Given the description of an element on the screen output the (x, y) to click on. 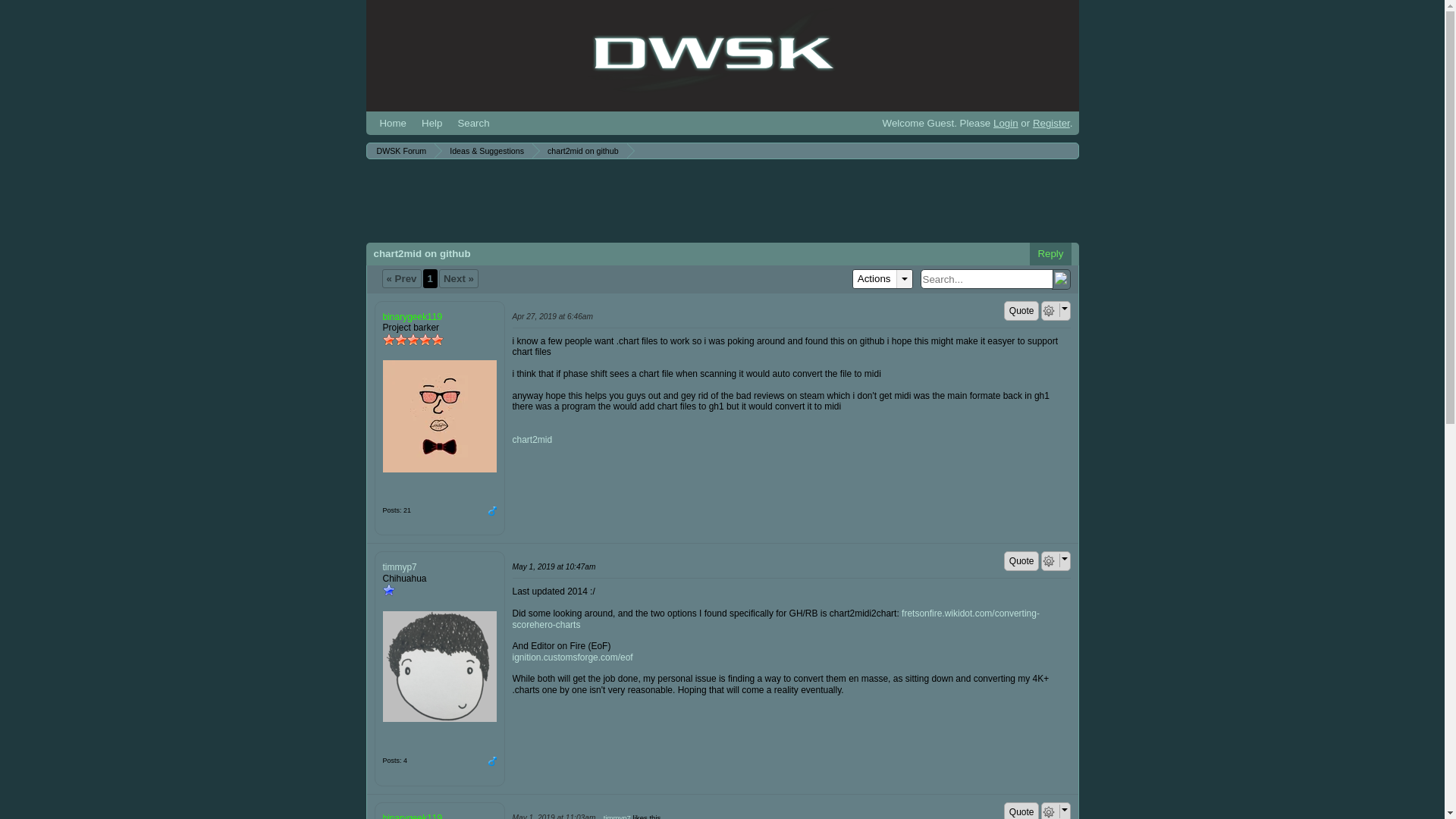
chart2mid on github (580, 150)
timmyp7 (438, 666)
binarygeek119 (438, 416)
Male (491, 510)
Reply (1049, 253)
Post Options (1048, 561)
DWSK Forum (702, 53)
Search (472, 123)
